Given the description of an element on the screen output the (x, y) to click on. 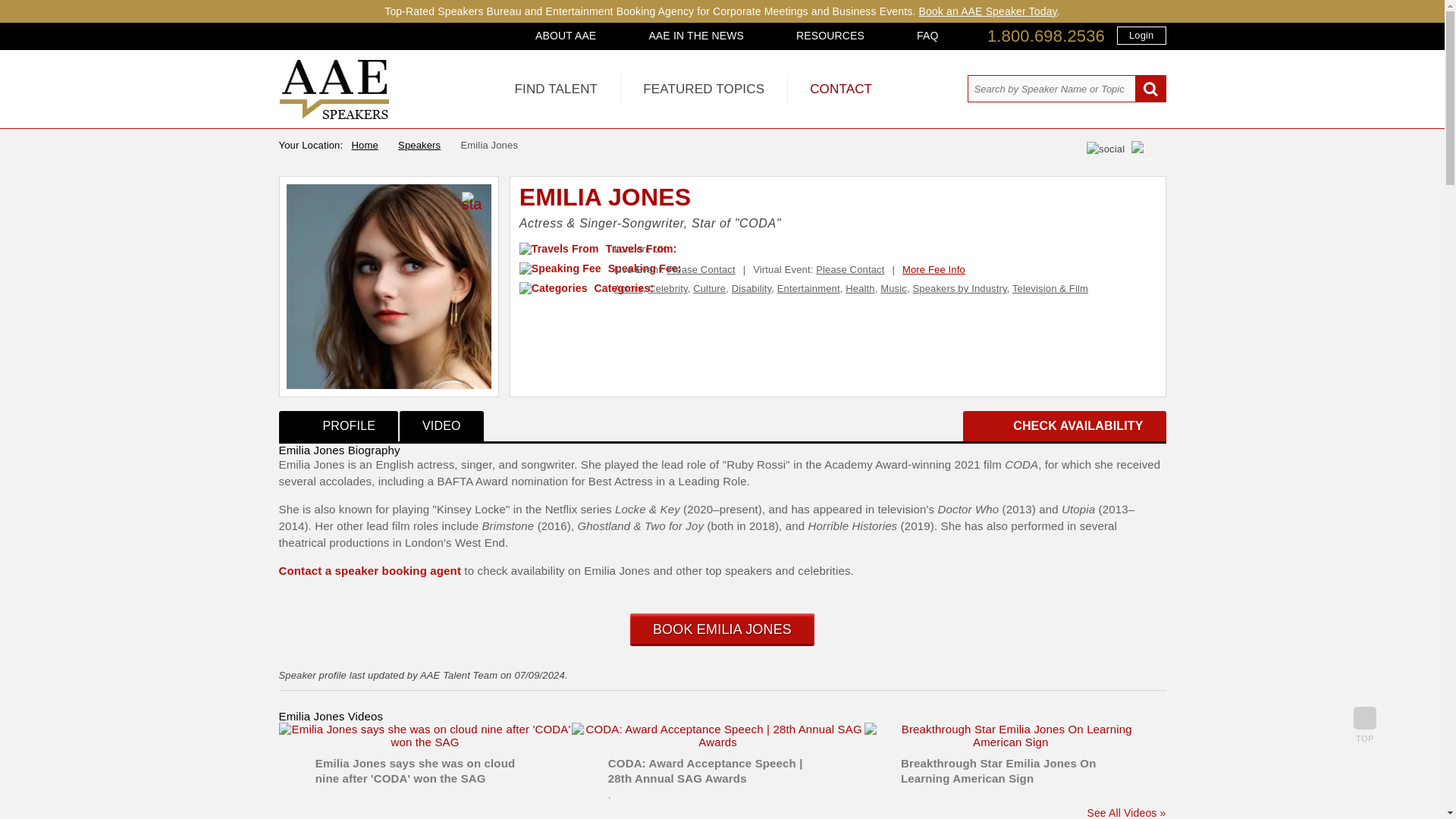
FAQ (927, 34)
Book an AAE Speaker Today (987, 10)
1.800.698.2536 (1046, 35)
AAE IN THE NEWS (695, 34)
ABOUT AAE (565, 34)
Search (1150, 89)
RESOURCES (829, 34)
Login (1141, 35)
All American Speakers Bureau and Celebrity Booking Agency (334, 115)
